Given the description of an element on the screen output the (x, y) to click on. 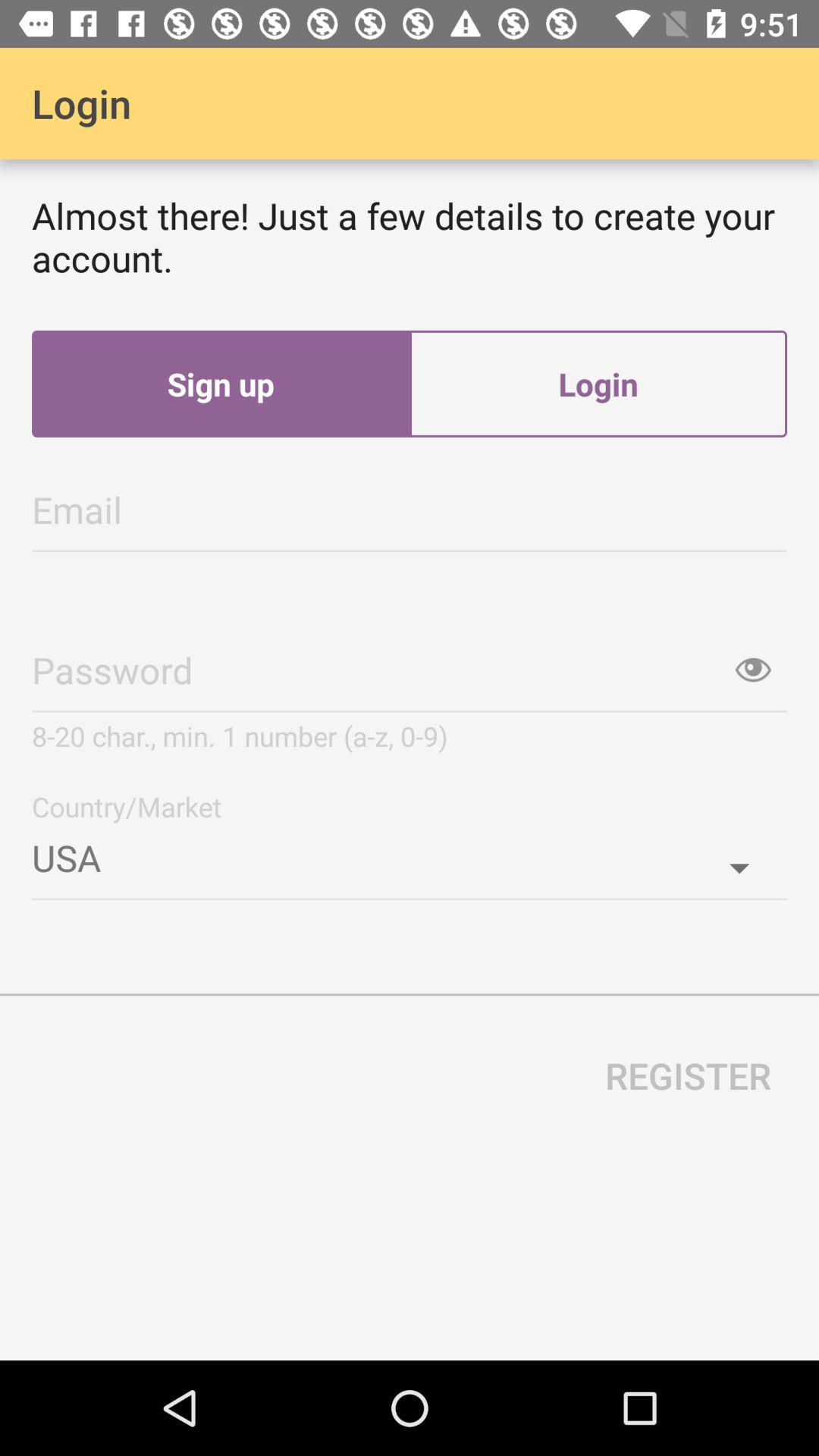
choose icon below almost there just (220, 383)
